Given the description of an element on the screen output the (x, y) to click on. 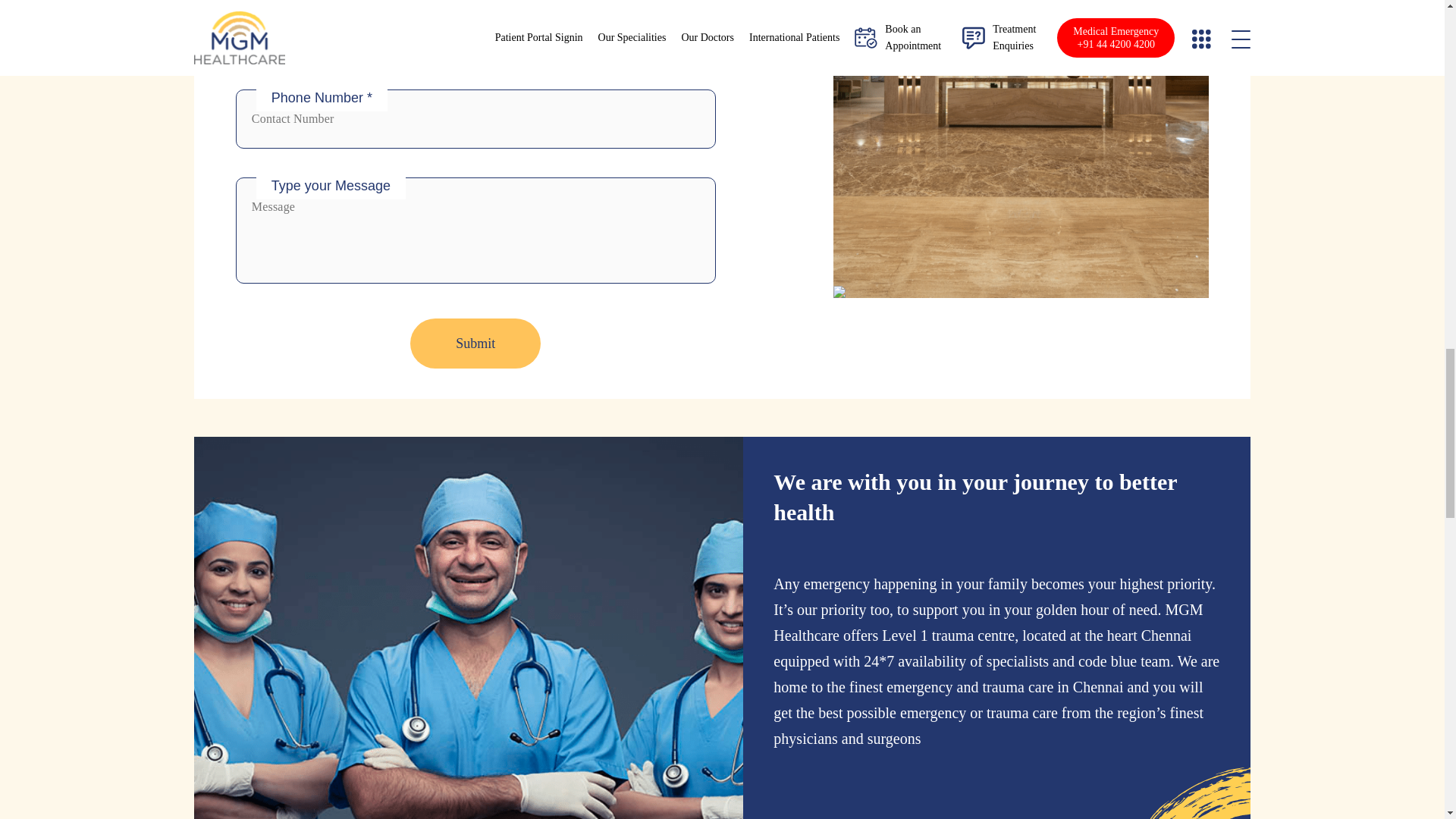
Submit (475, 343)
